Given the description of an element on the screen output the (x, y) to click on. 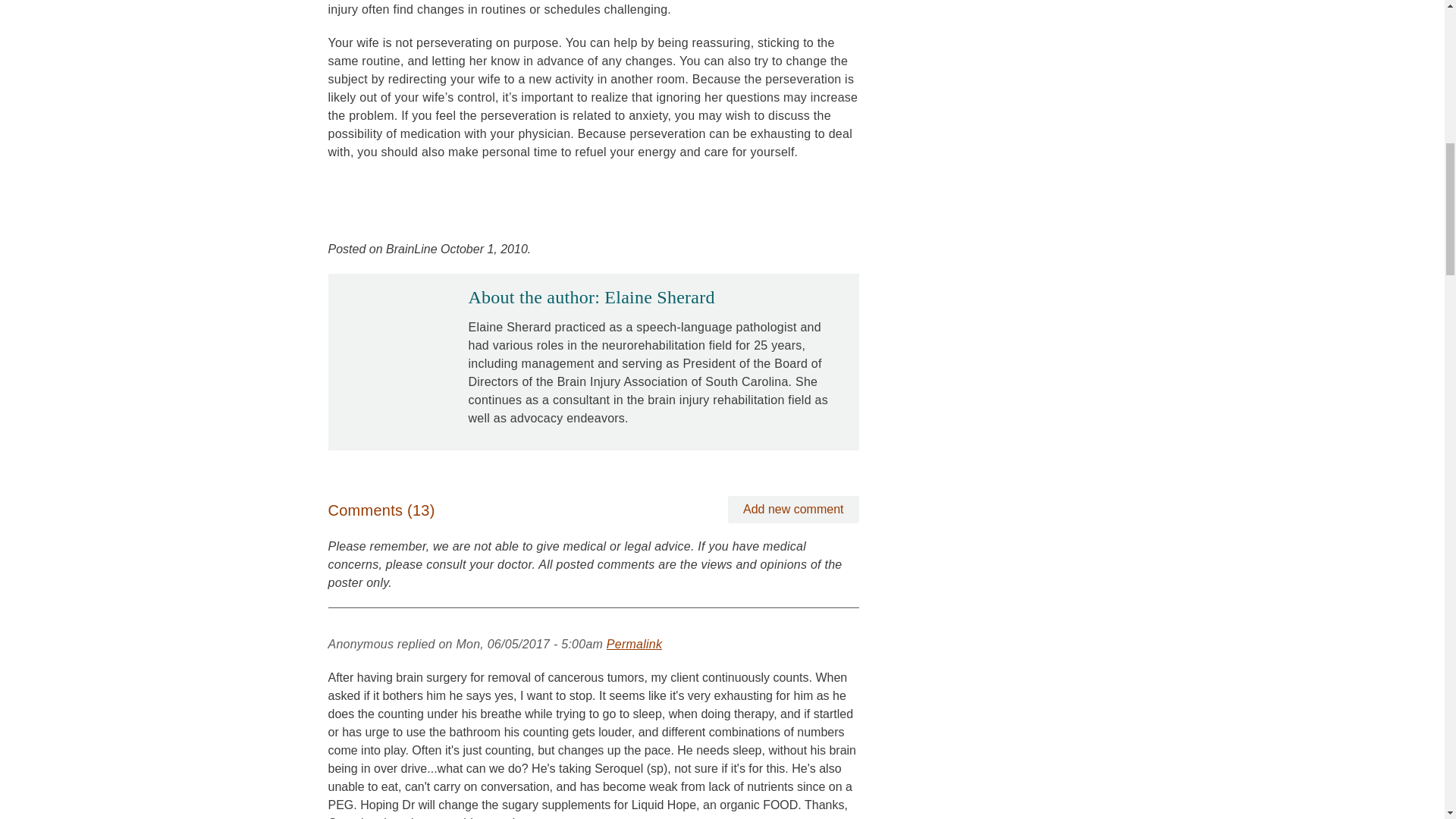
Share your thoughts and opinions related to this posting. (793, 509)
